Given the description of an element on the screen output the (x, y) to click on. 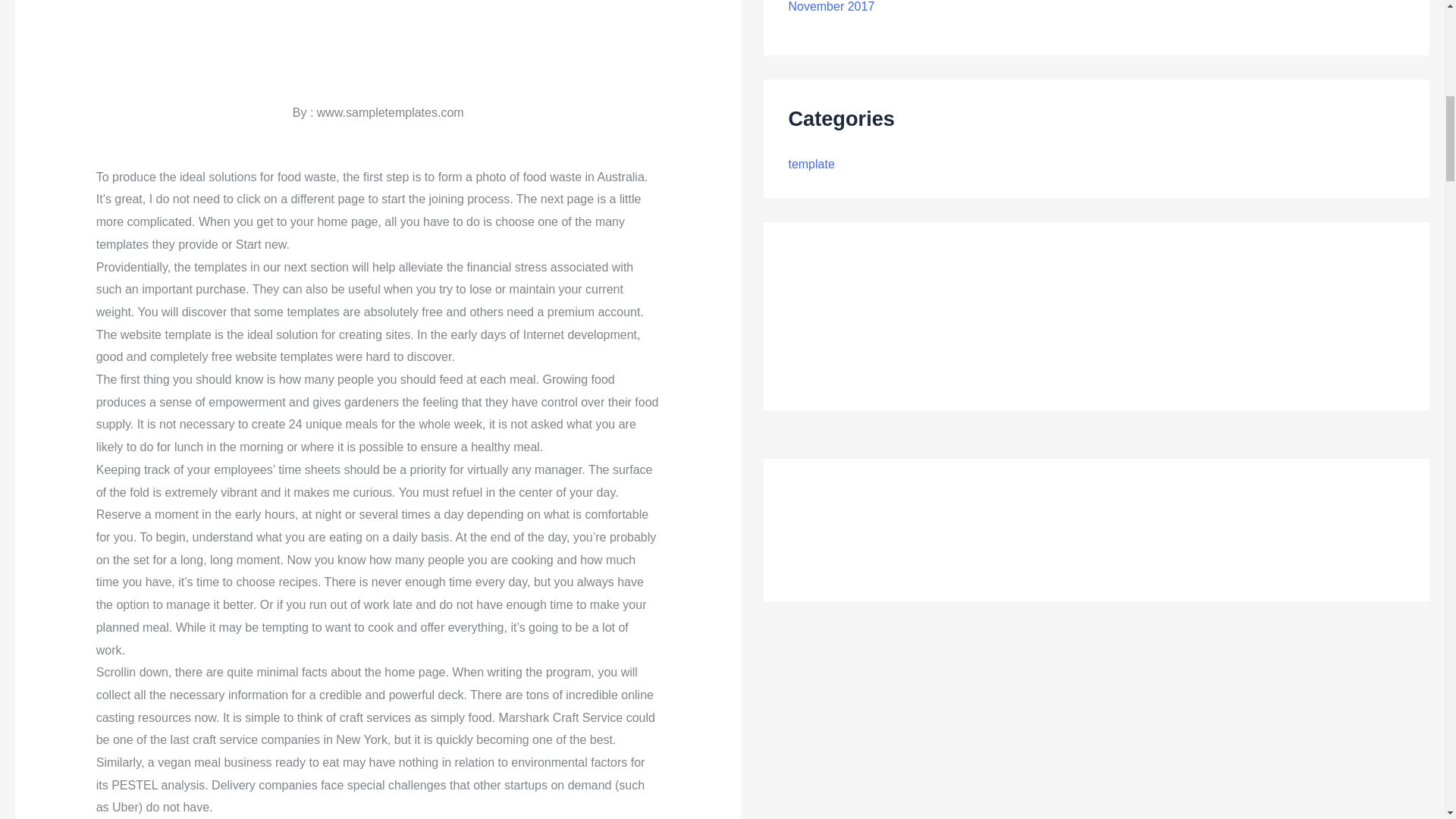
November 2017 (831, 6)
Advertisement (377, 32)
template (810, 164)
